Given the description of an element on the screen output the (x, y) to click on. 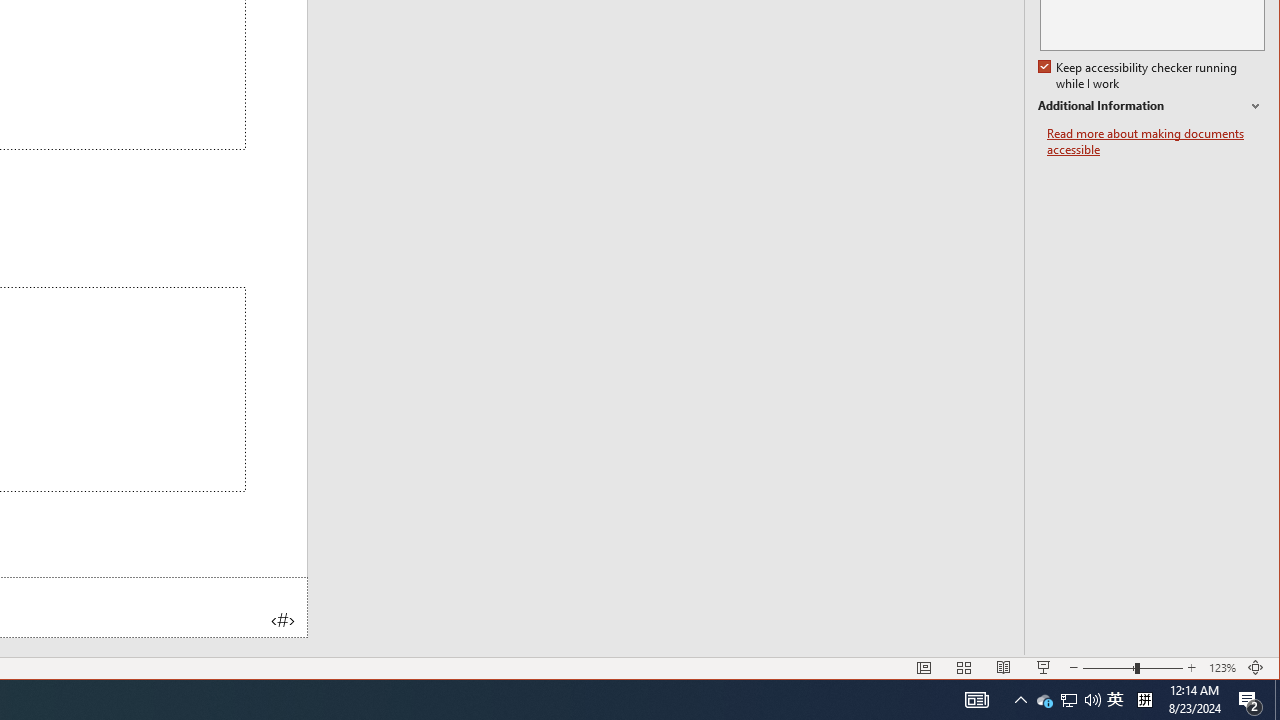
Read more about making documents accessible (1155, 142)
User Promoted Notification Area (1068, 699)
Notification Chevron (1020, 699)
Q2790: 100% (1092, 699)
